Given the description of an element on the screen output the (x, y) to click on. 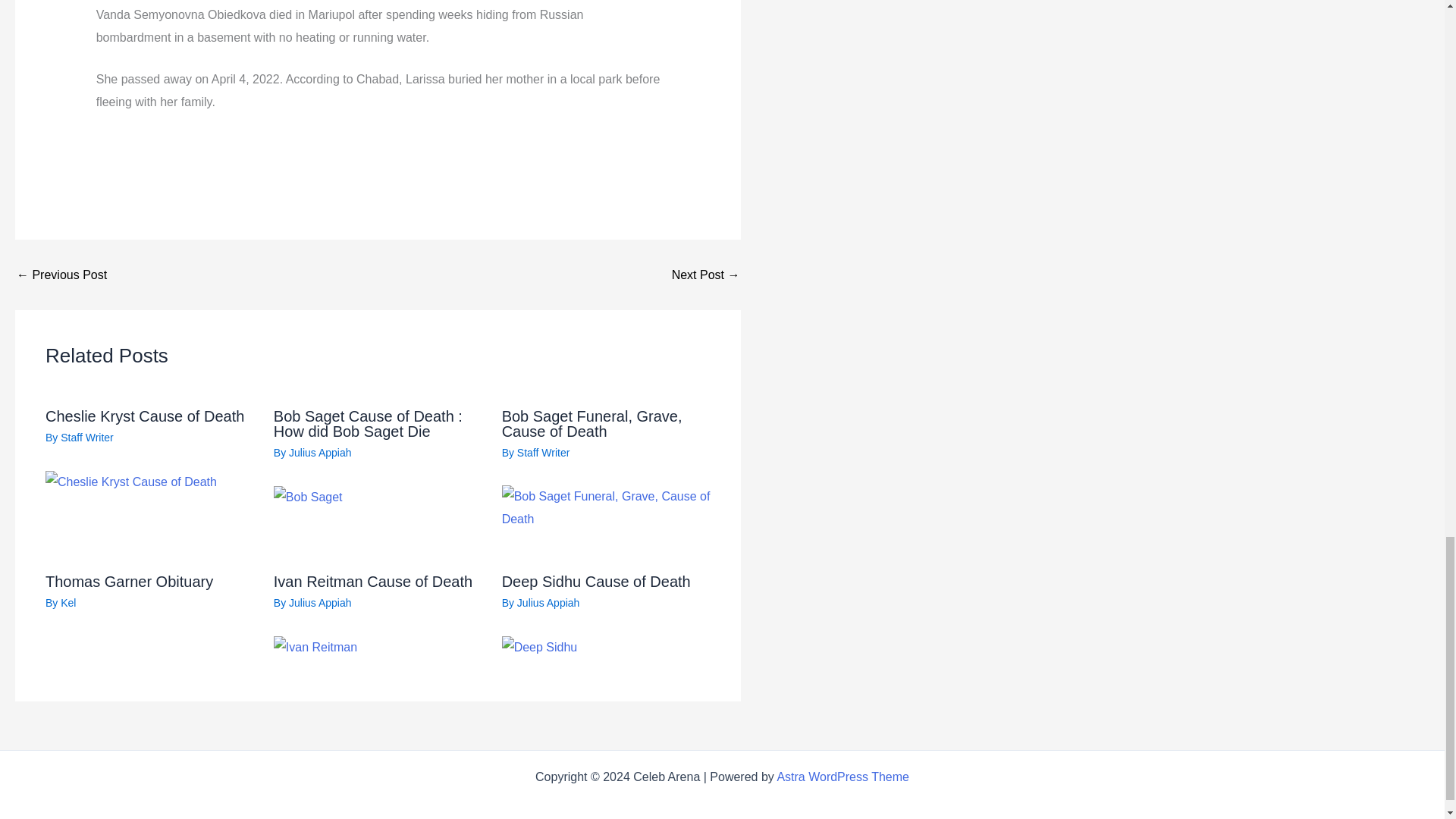
View all posts by Julius Appiah (320, 603)
View all posts by Julius Appiah (320, 452)
View all posts by Staff Writer (87, 437)
View all posts by Kel (68, 603)
View all posts by Staff Writer (543, 452)
View all posts by Julius Appiah (547, 603)
